Given the description of an element on the screen output the (x, y) to click on. 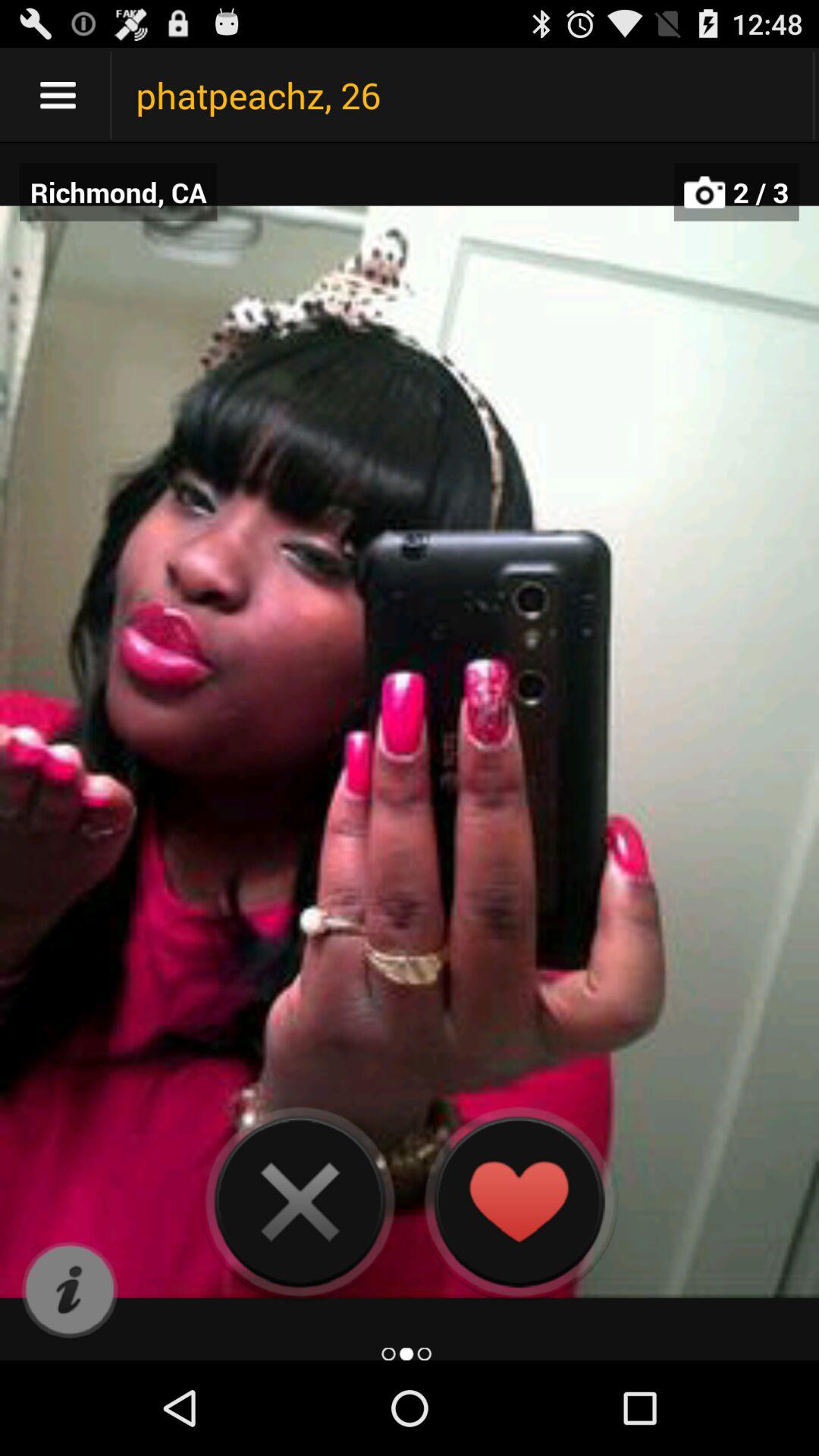
turn off app below richmond, ca icon (69, 1290)
